Given the description of an element on the screen output the (x, y) to click on. 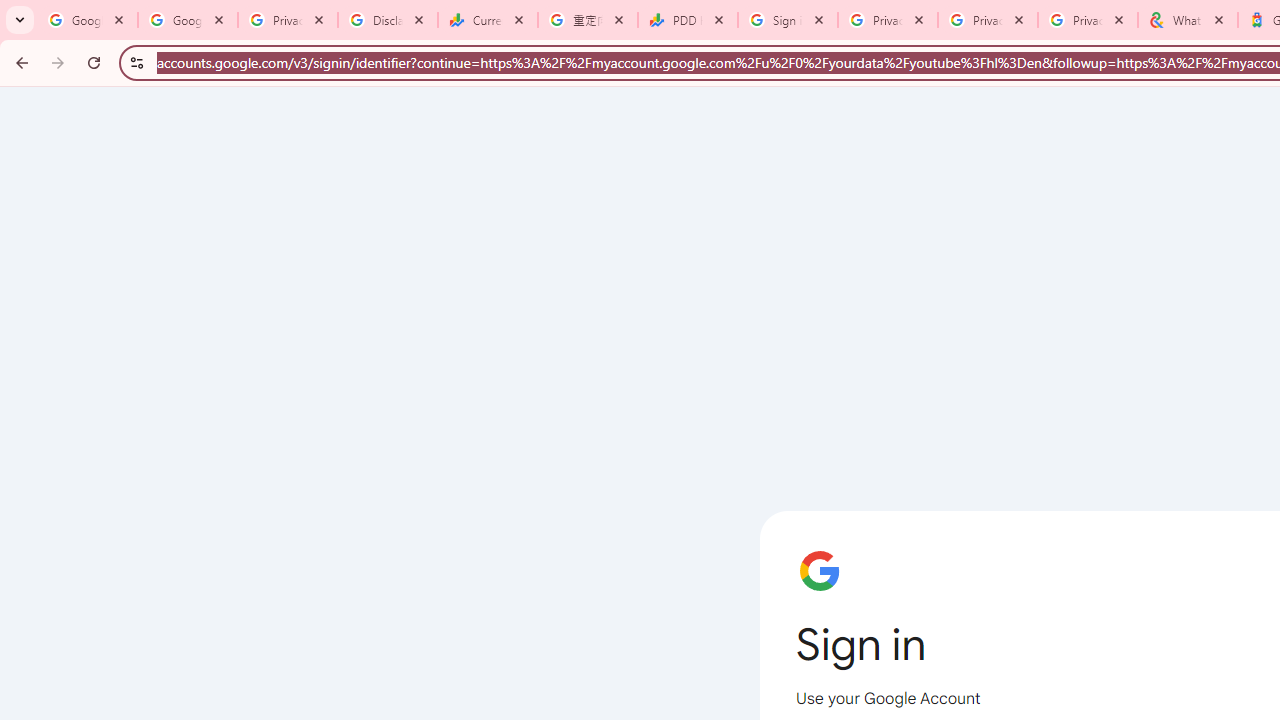
Privacy Checkup (988, 20)
Sign in - Google Accounts (788, 20)
Privacy Checkup (1087, 20)
Currencies - Google Finance (487, 20)
